Given the description of an element on the screen output the (x, y) to click on. 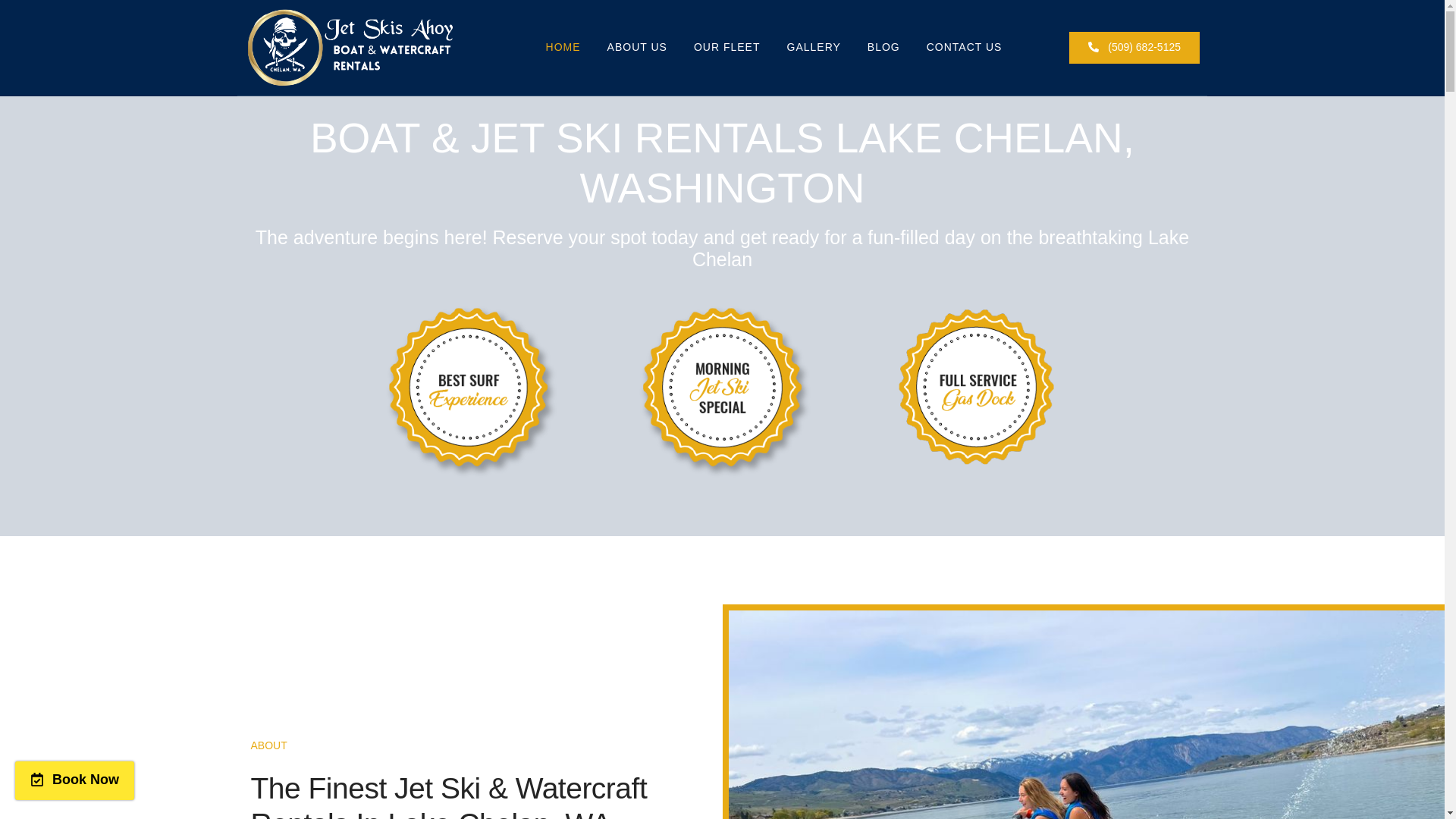
GALLERY (814, 47)
Book Now (73, 780)
CONTACT US (964, 47)
HOME (563, 47)
ABOUT US (636, 47)
OUR FLEET (727, 47)
BLOG (883, 47)
